Given the description of an element on the screen output the (x, y) to click on. 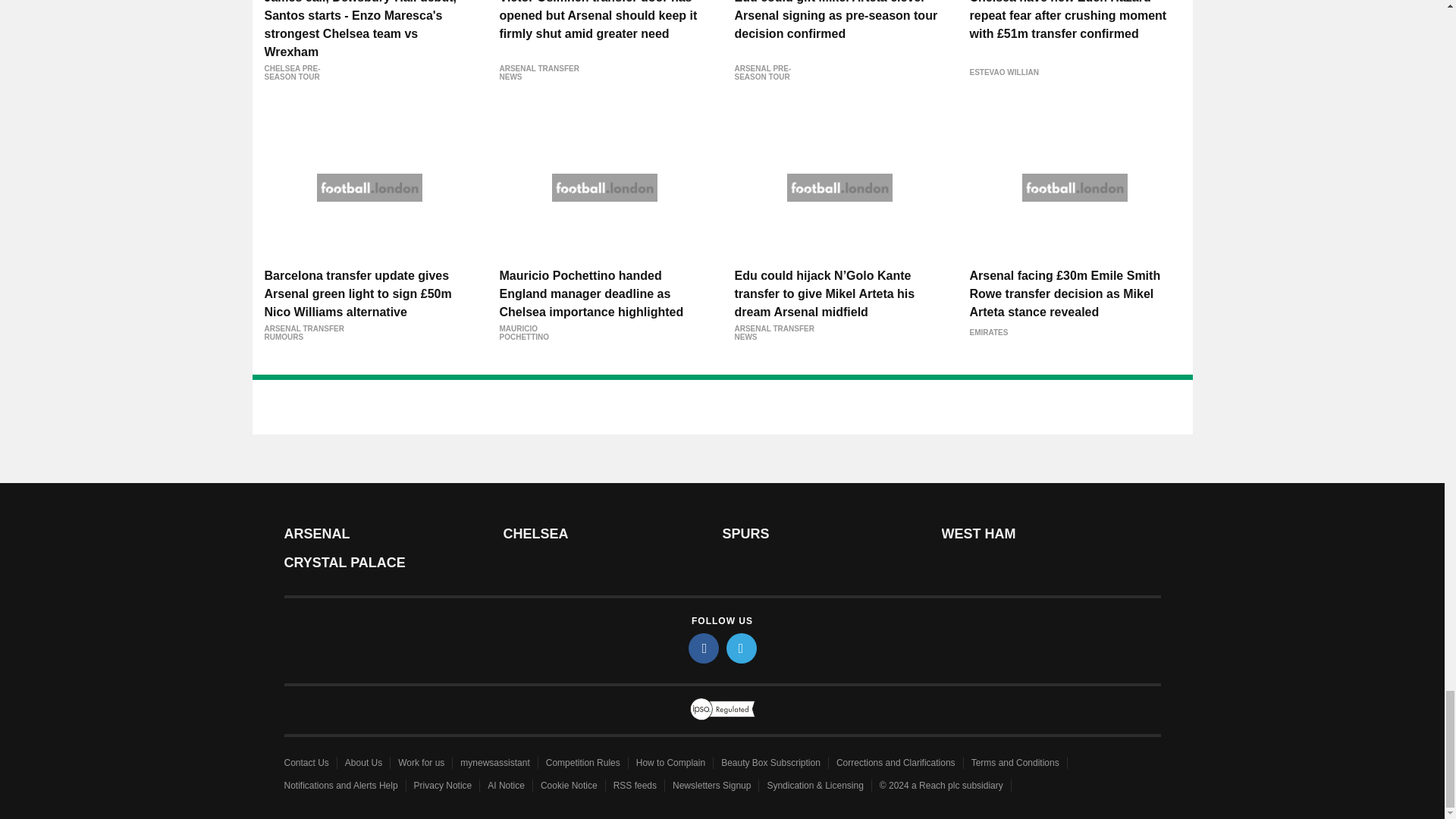
twitter (741, 648)
facebook (703, 648)
